Given the description of an element on the screen output the (x, y) to click on. 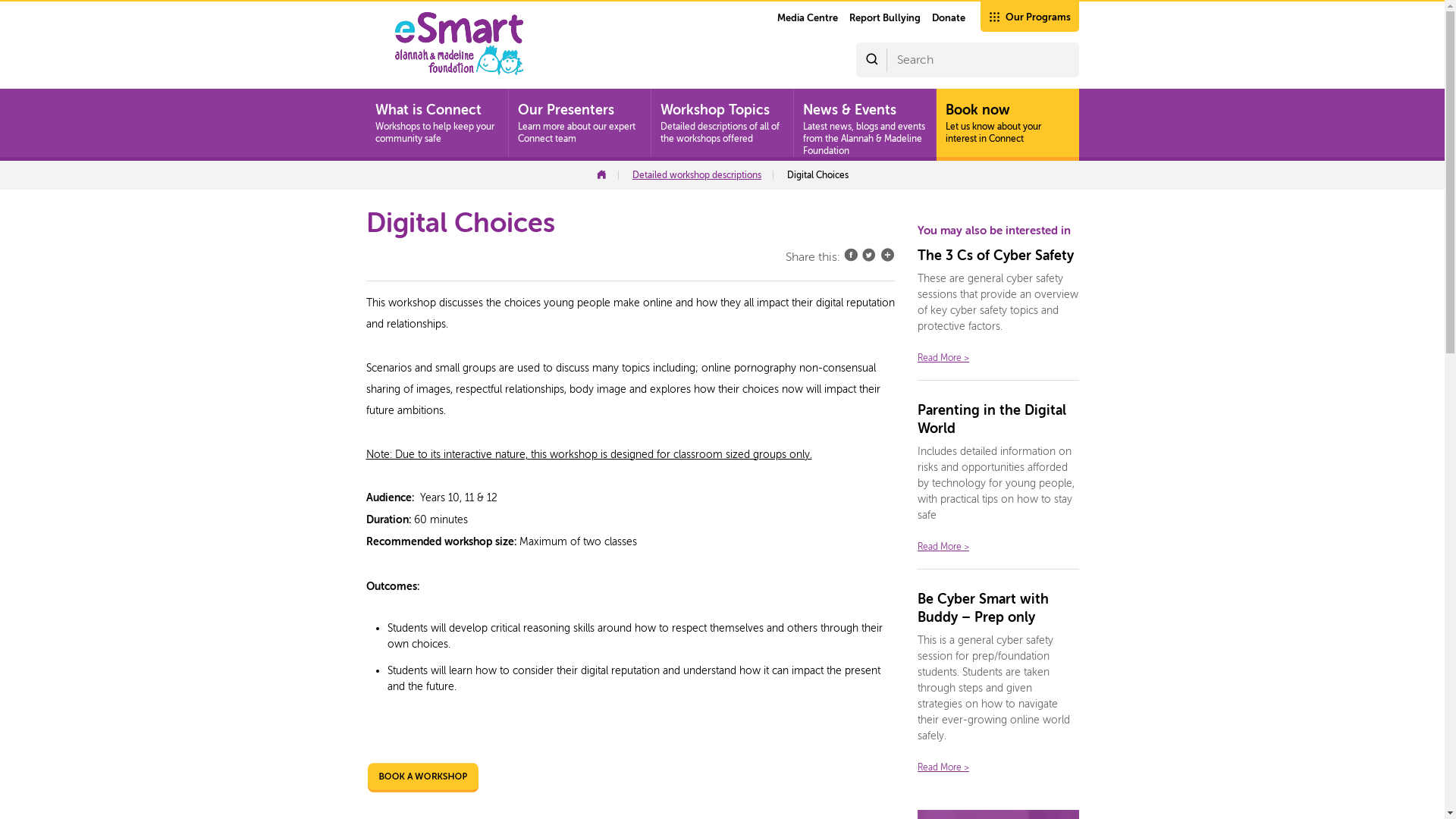
Our Programs Element type: text (1028, 15)
Our Presenters
Learn more about our expert Connect team Element type: text (579, 124)
Donate Element type: text (947, 17)
Book now
Let us know about your interest in Connect Element type: text (1006, 124)
Report Bullying Element type: text (884, 17)
Detailed workshop descriptions Element type: text (702, 174)
Media Centre Element type: text (806, 17)
Connect Element type: hover (458, 43)
Read More > Element type: text (943, 356)
What is Connect
Workshops to help keep your community safe Element type: text (436, 124)
Read More > Element type: text (943, 766)
Read More > Element type: text (943, 546)
Connect Element type: hover (607, 174)
